Given the description of an element on the screen output the (x, y) to click on. 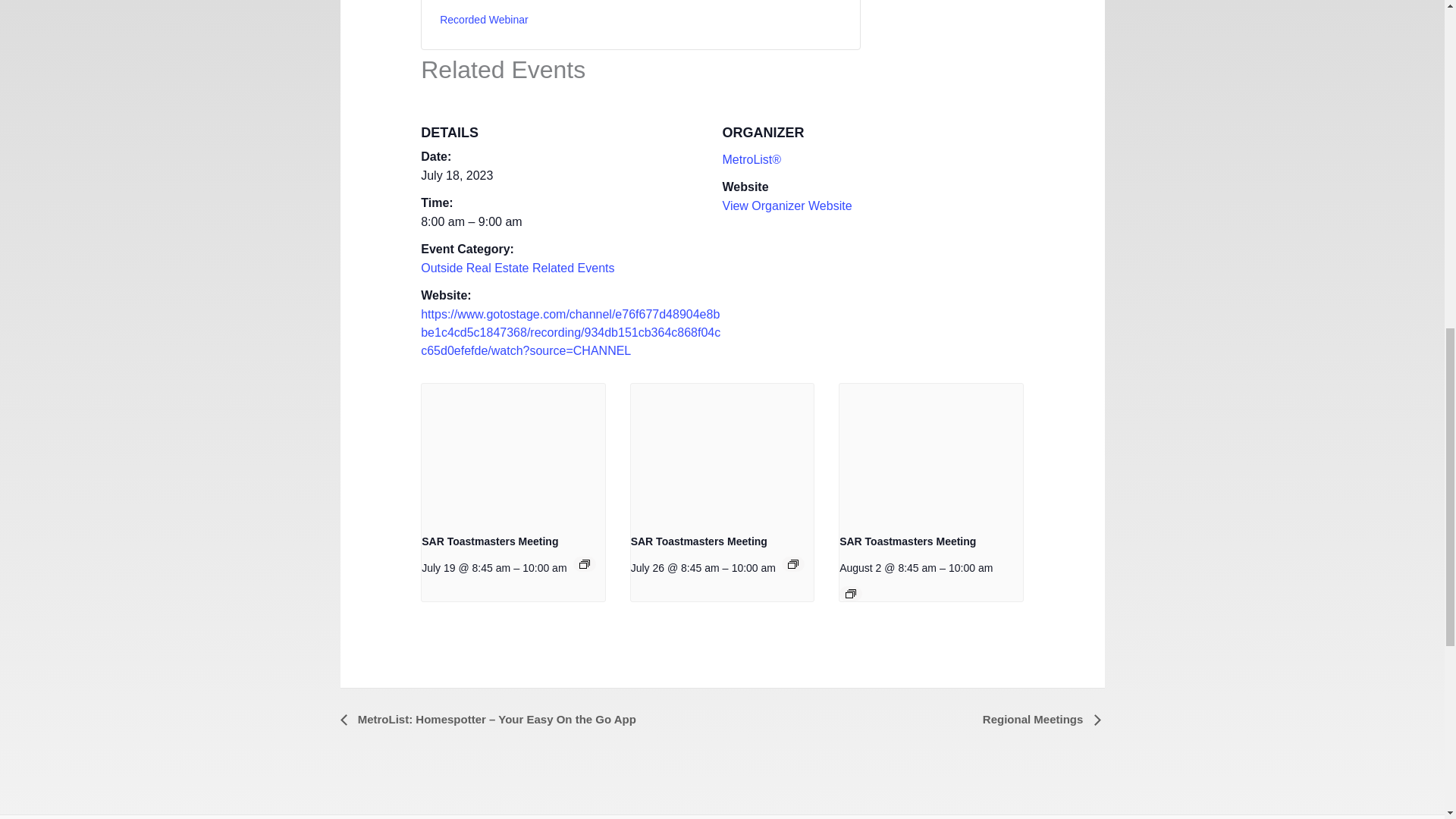
Event Series (850, 593)
2023-07-18 (571, 221)
Recorded Webinar (483, 19)
2023-07-18 (456, 174)
Event Series (792, 563)
Event Series (584, 563)
